Given the description of an element on the screen output the (x, y) to click on. 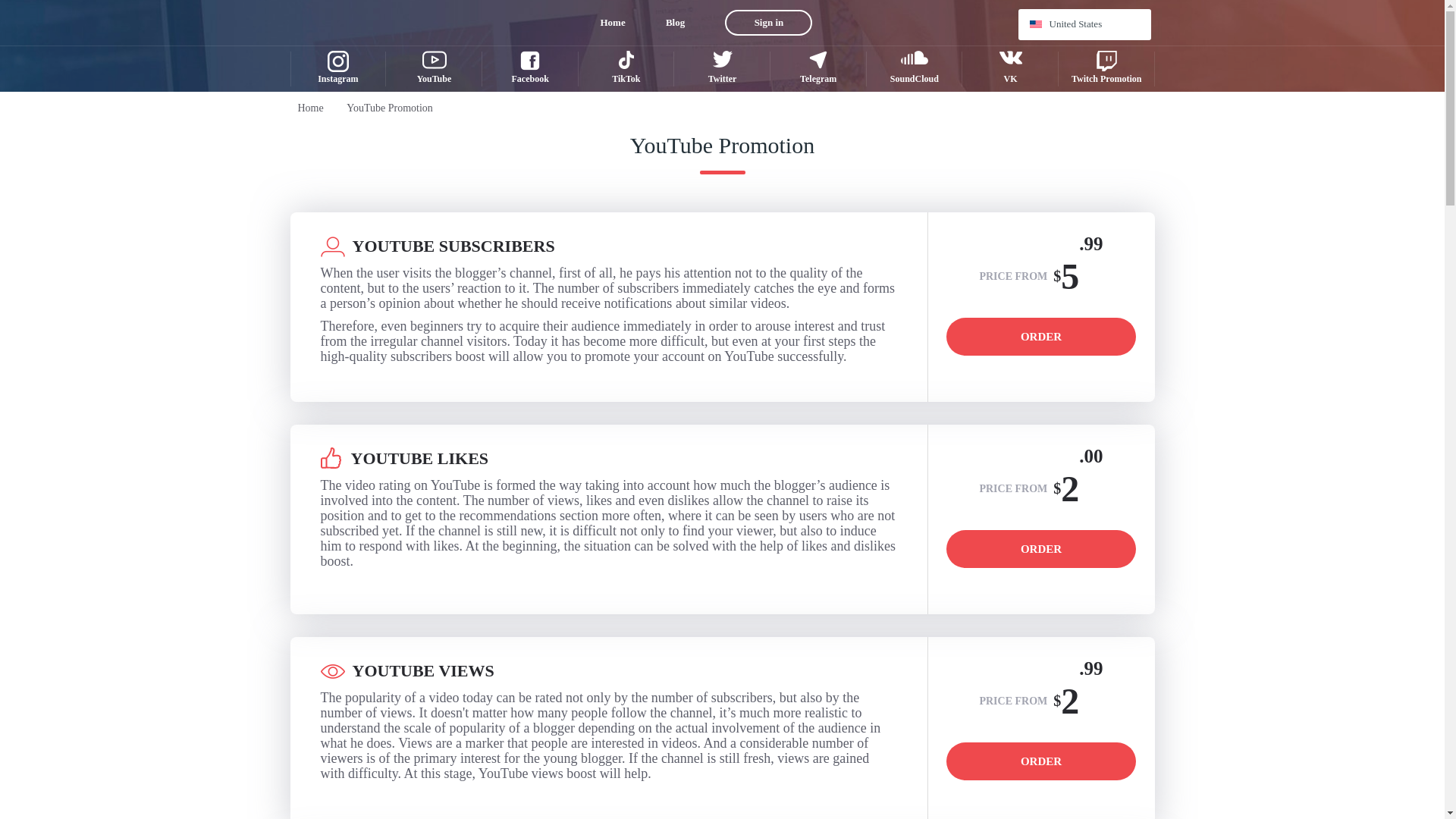
Home (612, 23)
Blog (674, 23)
Sign in (768, 22)
